Given the description of an element on the screen output the (x, y) to click on. 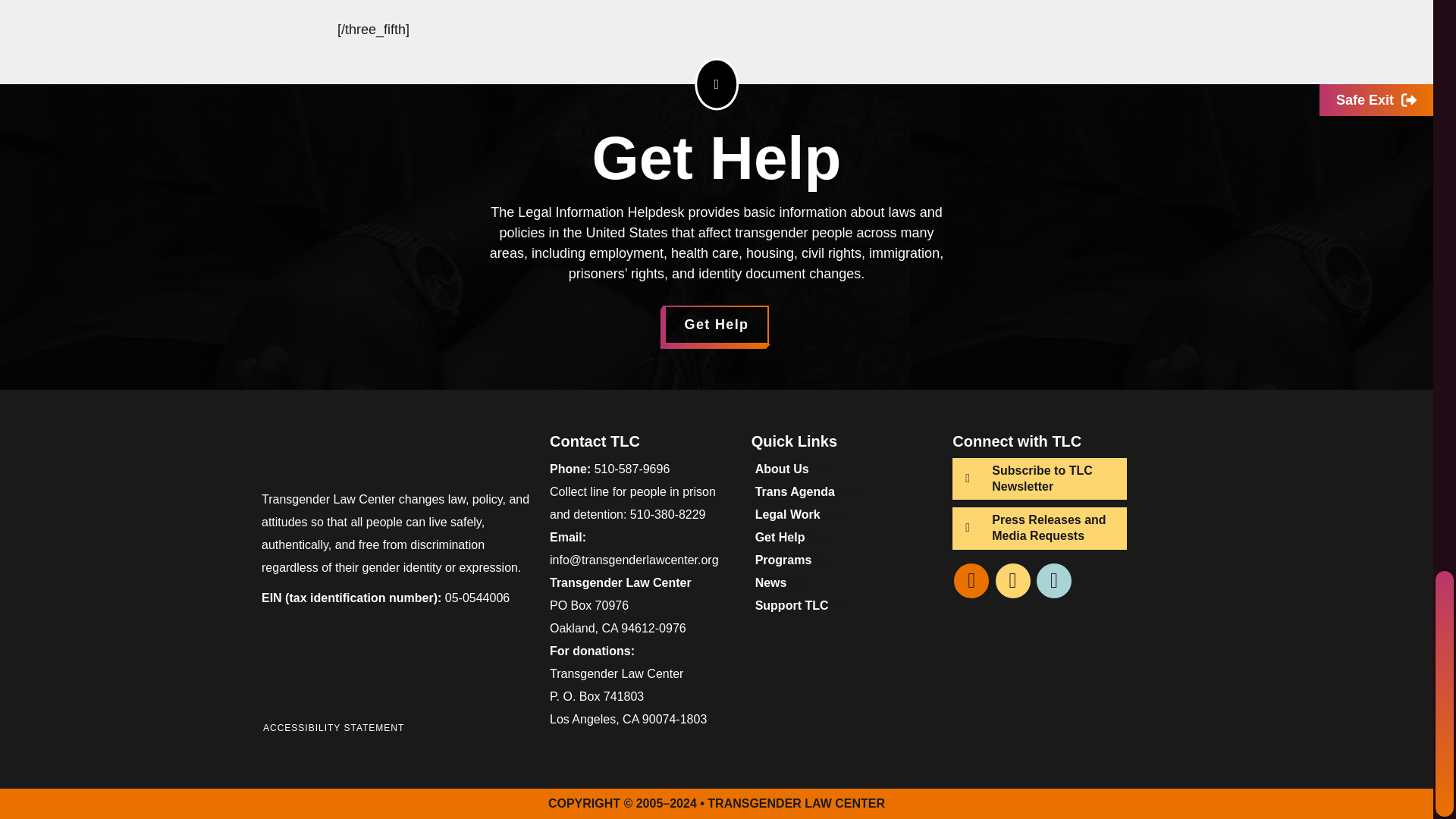
Charity Navigator Four Star Charity Seal (467, 665)
